Given the description of an element on the screen output the (x, y) to click on. 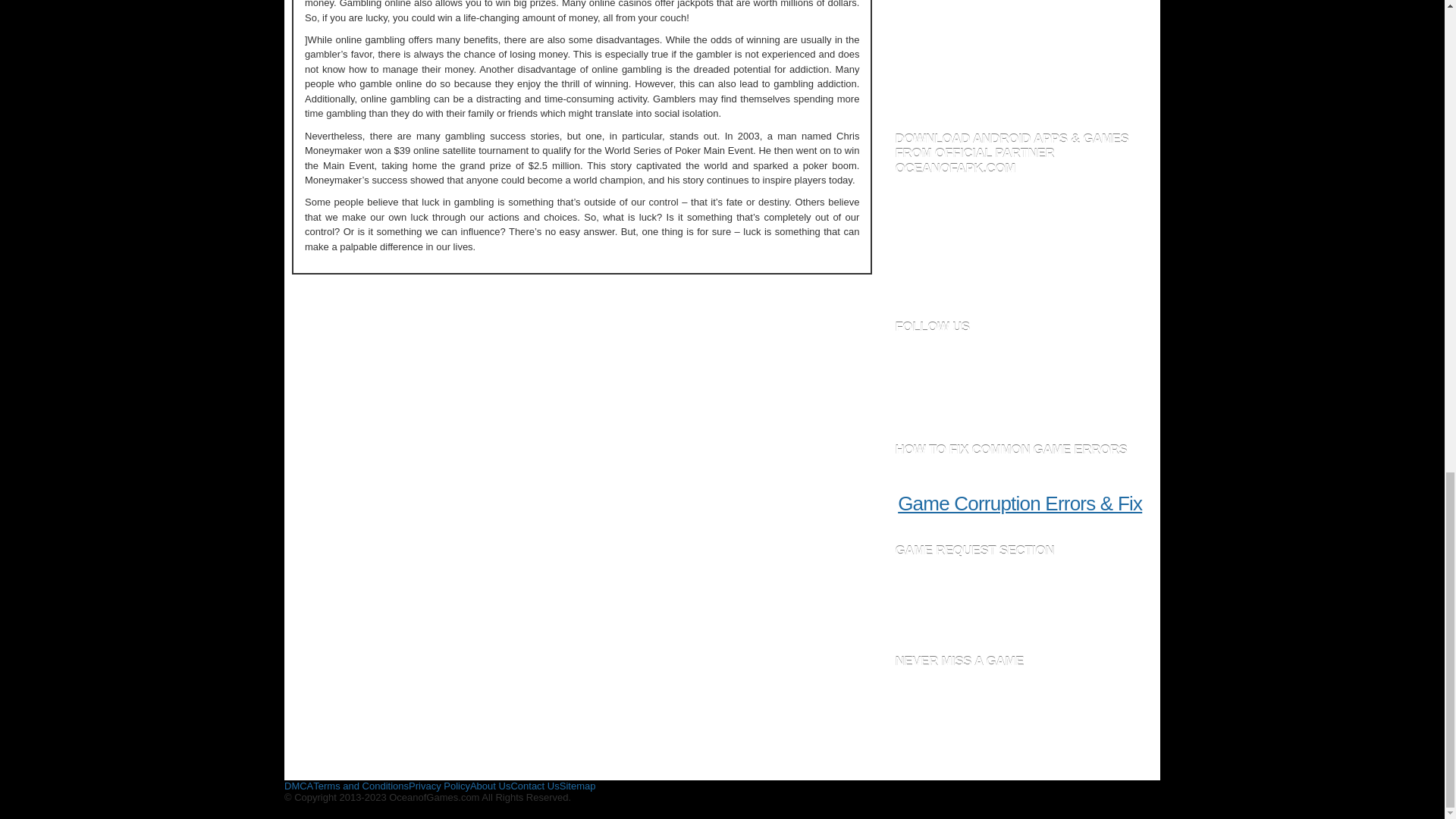
About Us (490, 785)
Privacy Policy (439, 785)
DMCA (298, 785)
Terms and Conditions (361, 785)
Contact Us (535, 785)
Fix General Game Issues (1019, 503)
Sitemap (577, 785)
